Given the description of an element on the screen output the (x, y) to click on. 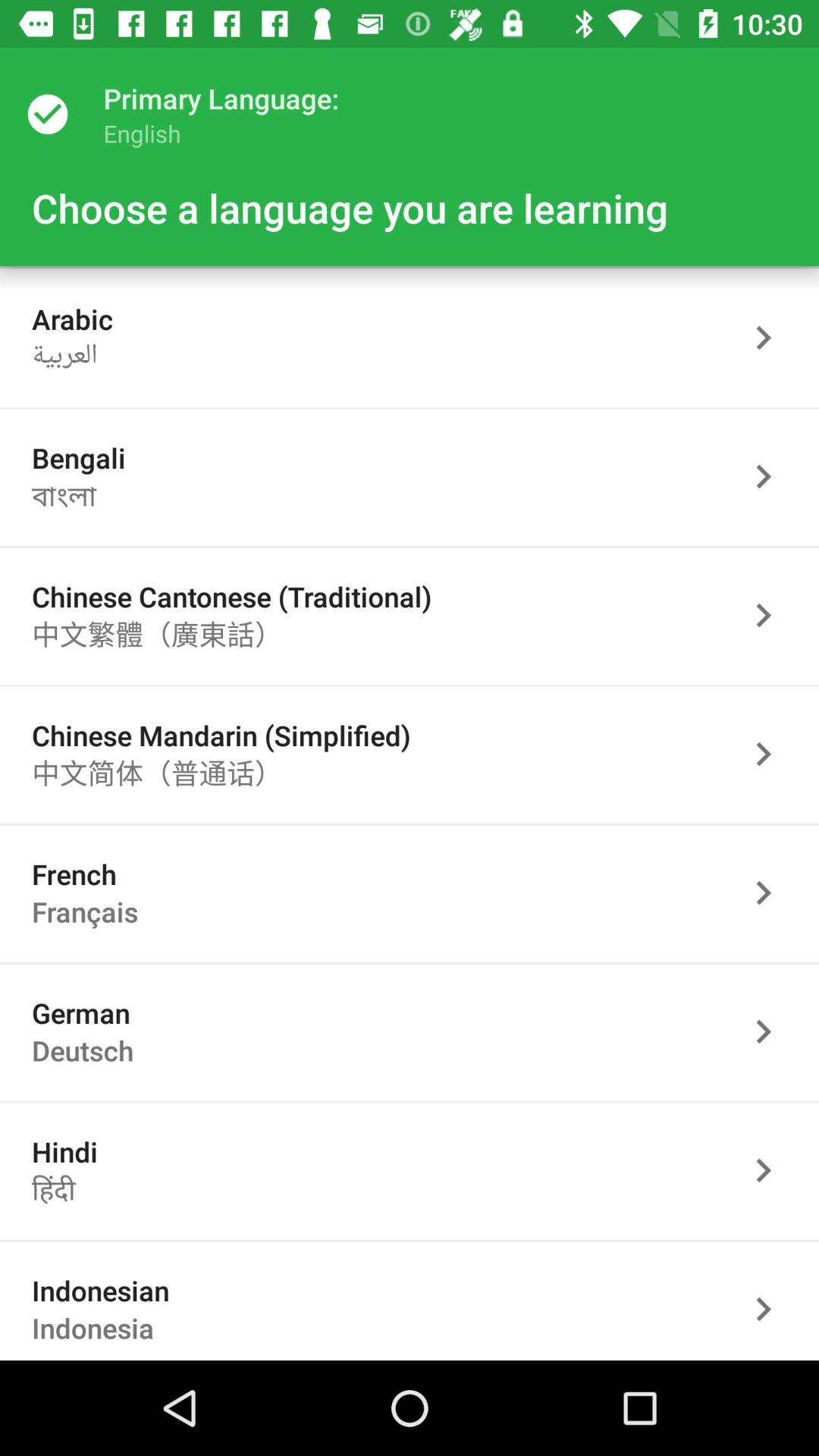
select french language (771, 892)
